Given the description of an element on the screen output the (x, y) to click on. 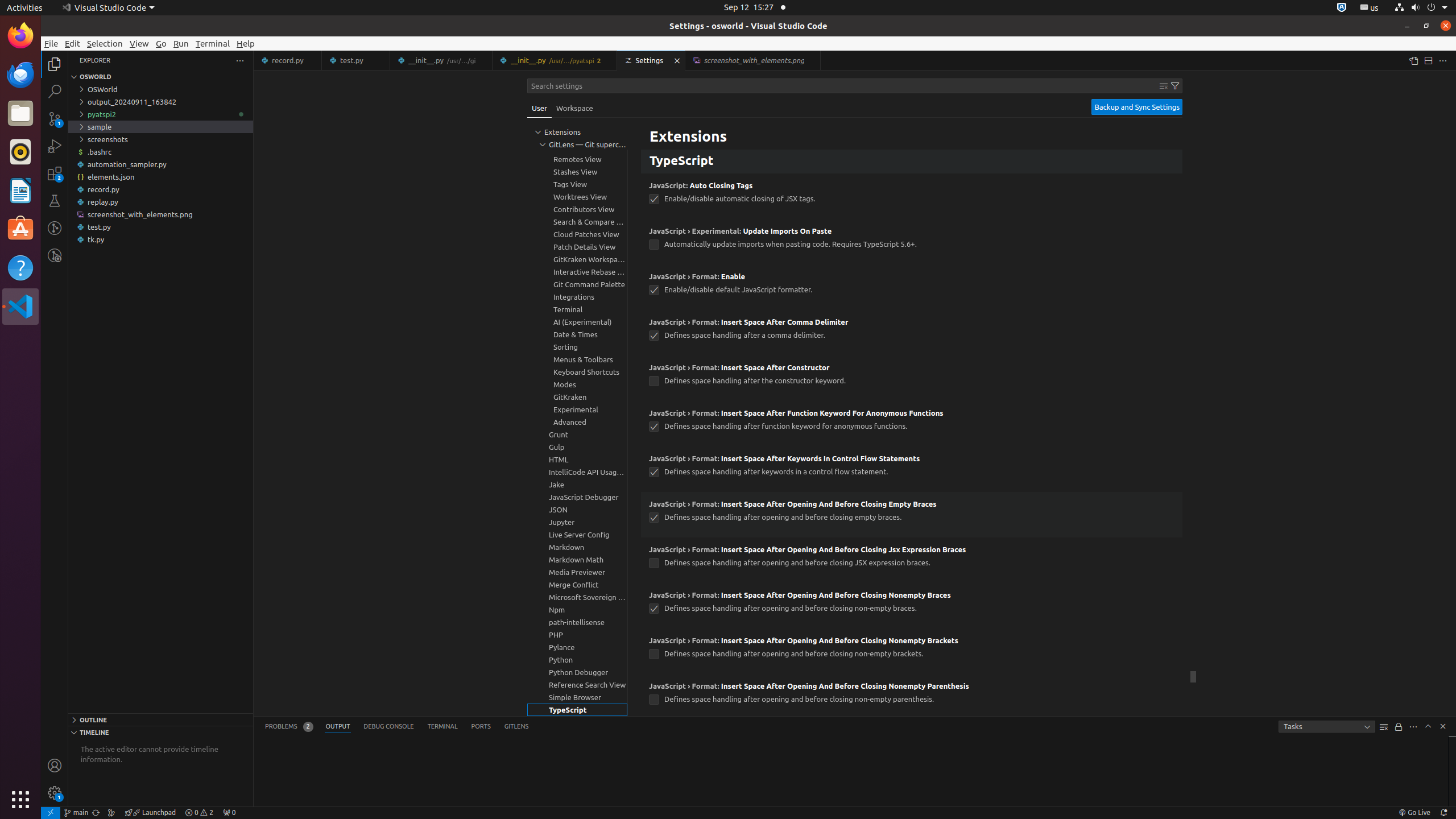
Manage - New Code update available. Element type: push-button (54, 792)
Patch Details View, group Element type: tree-item (577, 246)
javascript.experimental.updateImportsOnPaste Element type: check-box (653, 244)
